Given the description of an element on the screen output the (x, y) to click on. 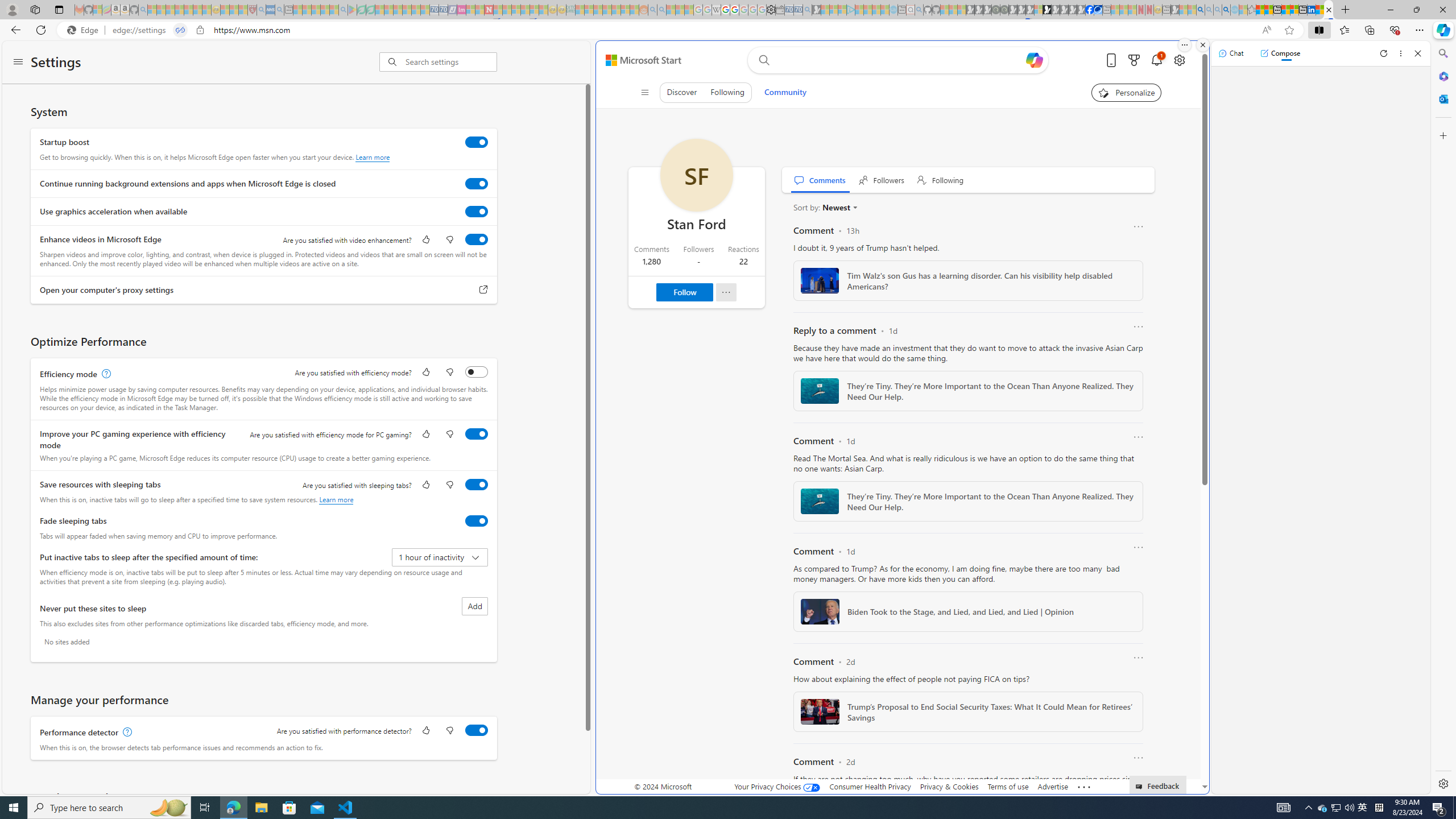
Edge (84, 29)
 Followers (881, 179)
Performance detector, learn more (126, 732)
